Given the description of an element on the screen output the (x, y) to click on. 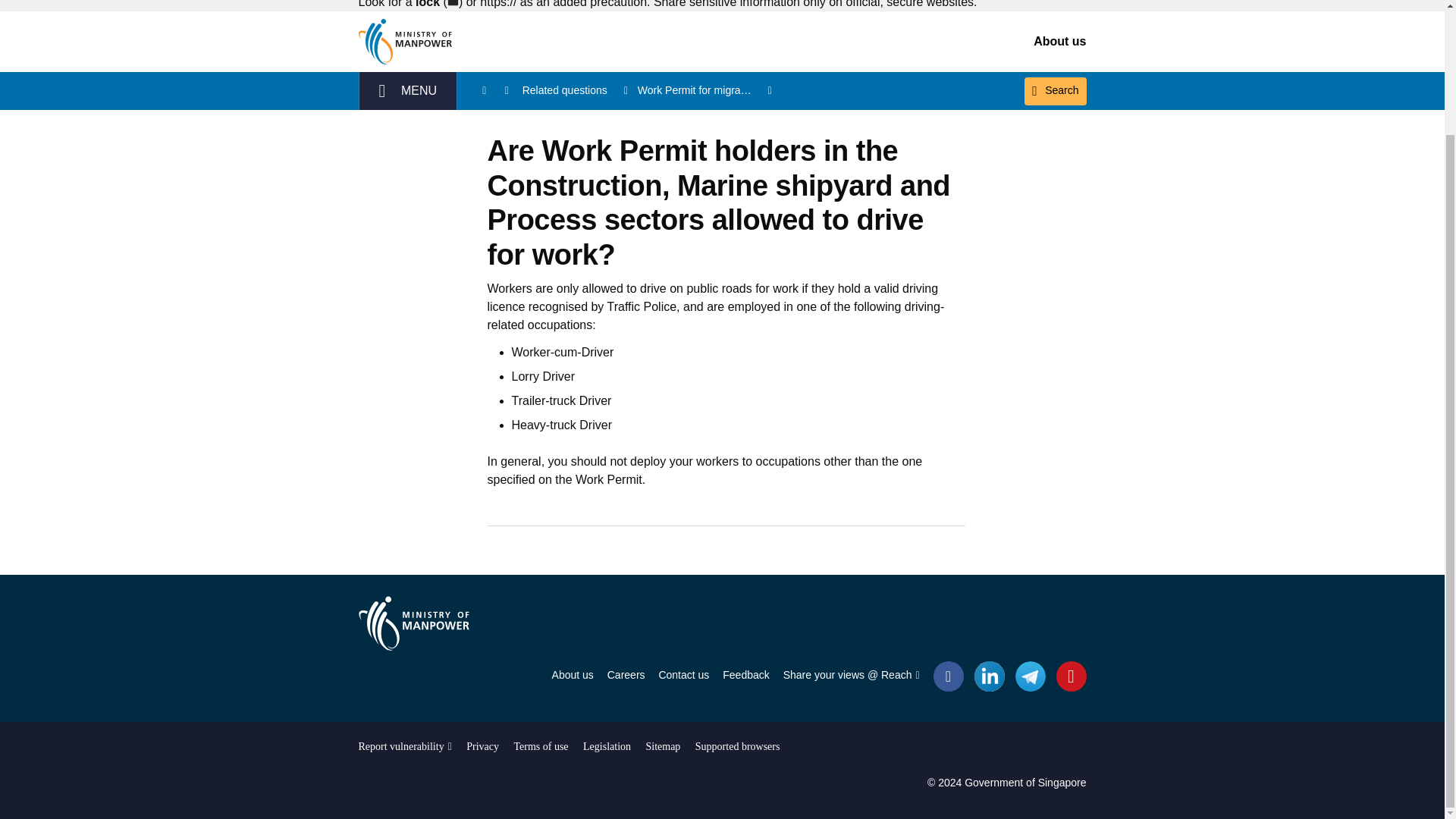
Feedback (745, 676)
About us (1059, 41)
Ministry of Manpower (407, 41)
Work Permit for migrant worker (705, 90)
Ministry of Manpower (413, 623)
Ministry of Manpower Telegram (1029, 675)
Terms of use (540, 746)
Ministry of Manpower Homepage (407, 41)
Ministry of Manpower (413, 623)
Related questions (576, 90)
